Given the description of an element on the screen output the (x, y) to click on. 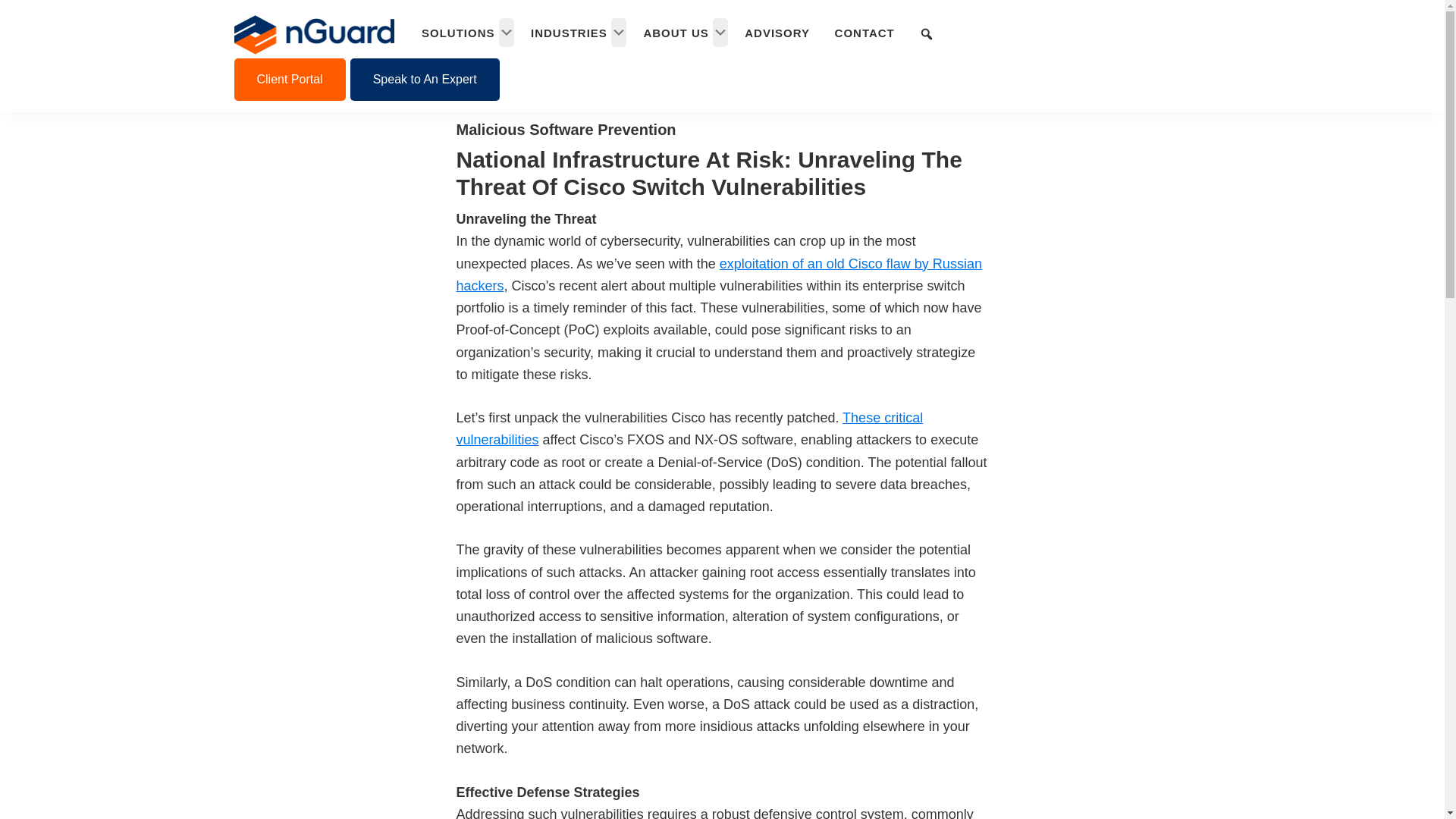
Client Portal (288, 79)
CONTACT (865, 32)
Speak to An Expert (424, 79)
SOLUTIONS (459, 32)
INDUSTRIES (569, 32)
ADVISORY (778, 32)
ABOUT US (676, 32)
